Given the description of an element on the screen output the (x, y) to click on. 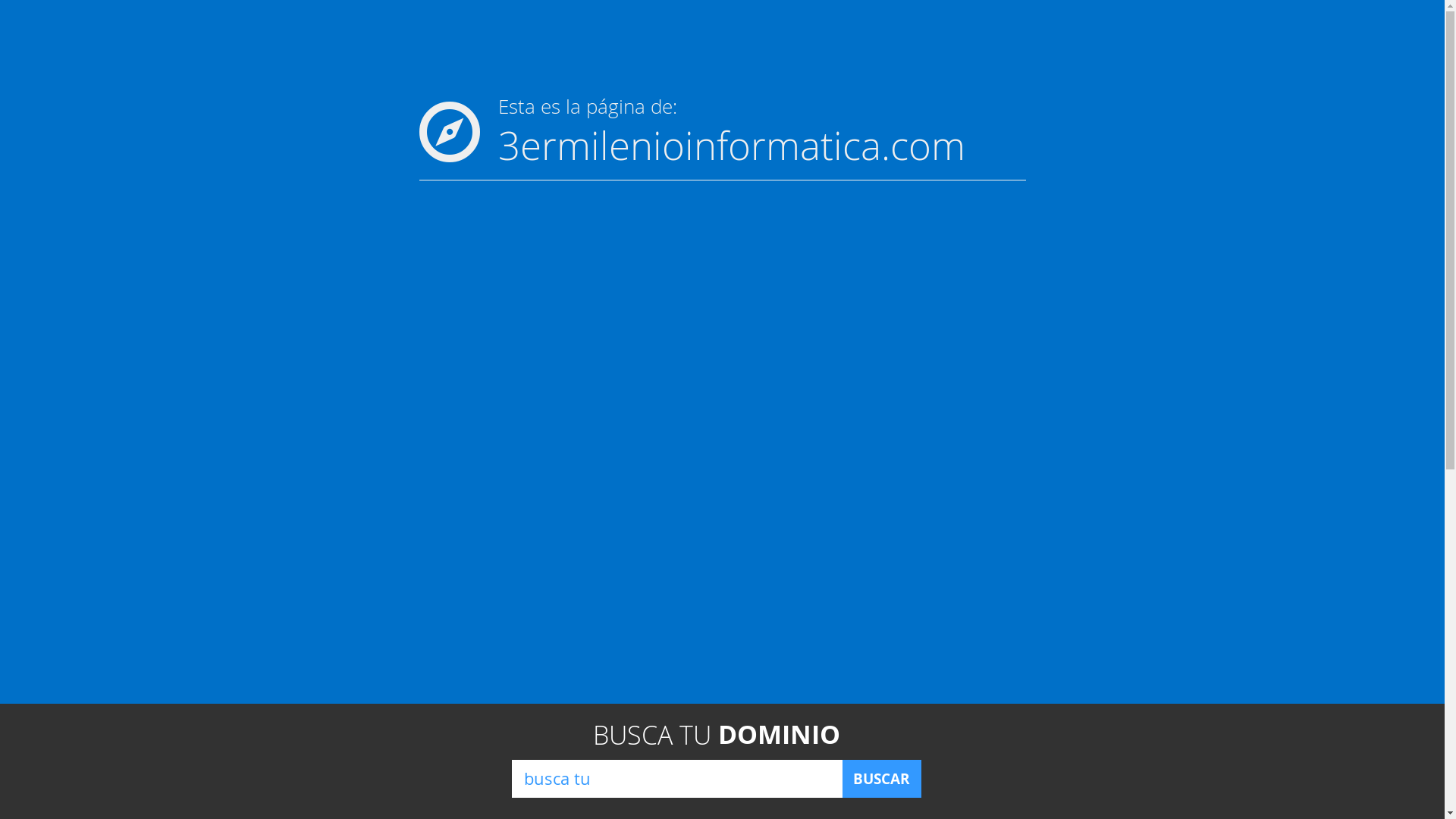
BUSCAR Element type: text (880, 778)
